Given the description of an element on the screen output the (x, y) to click on. 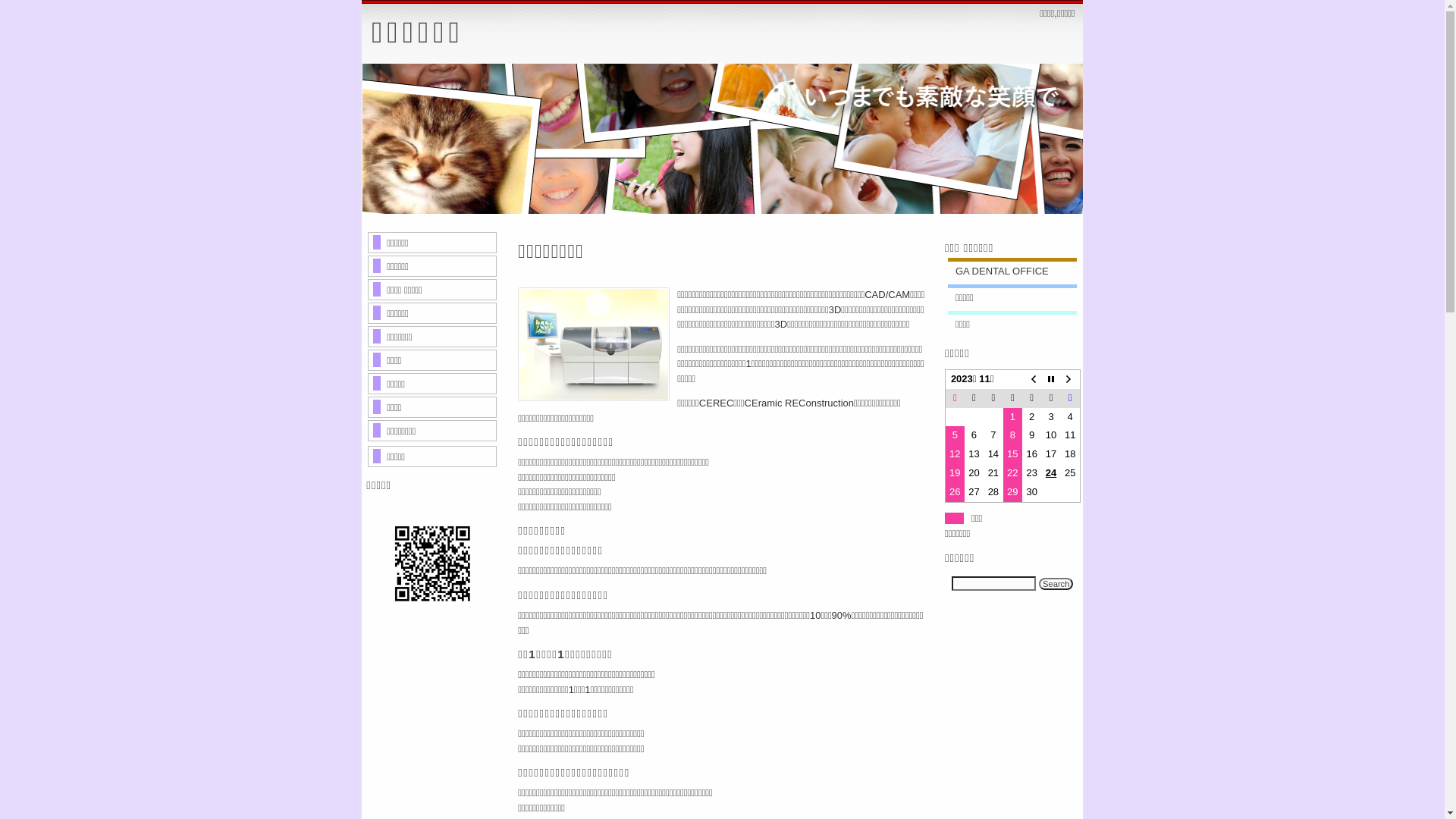
GA DENTAL OFFICE Element type: text (1001, 270)
cerec-machine Element type: hover (597, 344)
Search Element type: text (1055, 583)
